Given the description of an element on the screen output the (x, y) to click on. 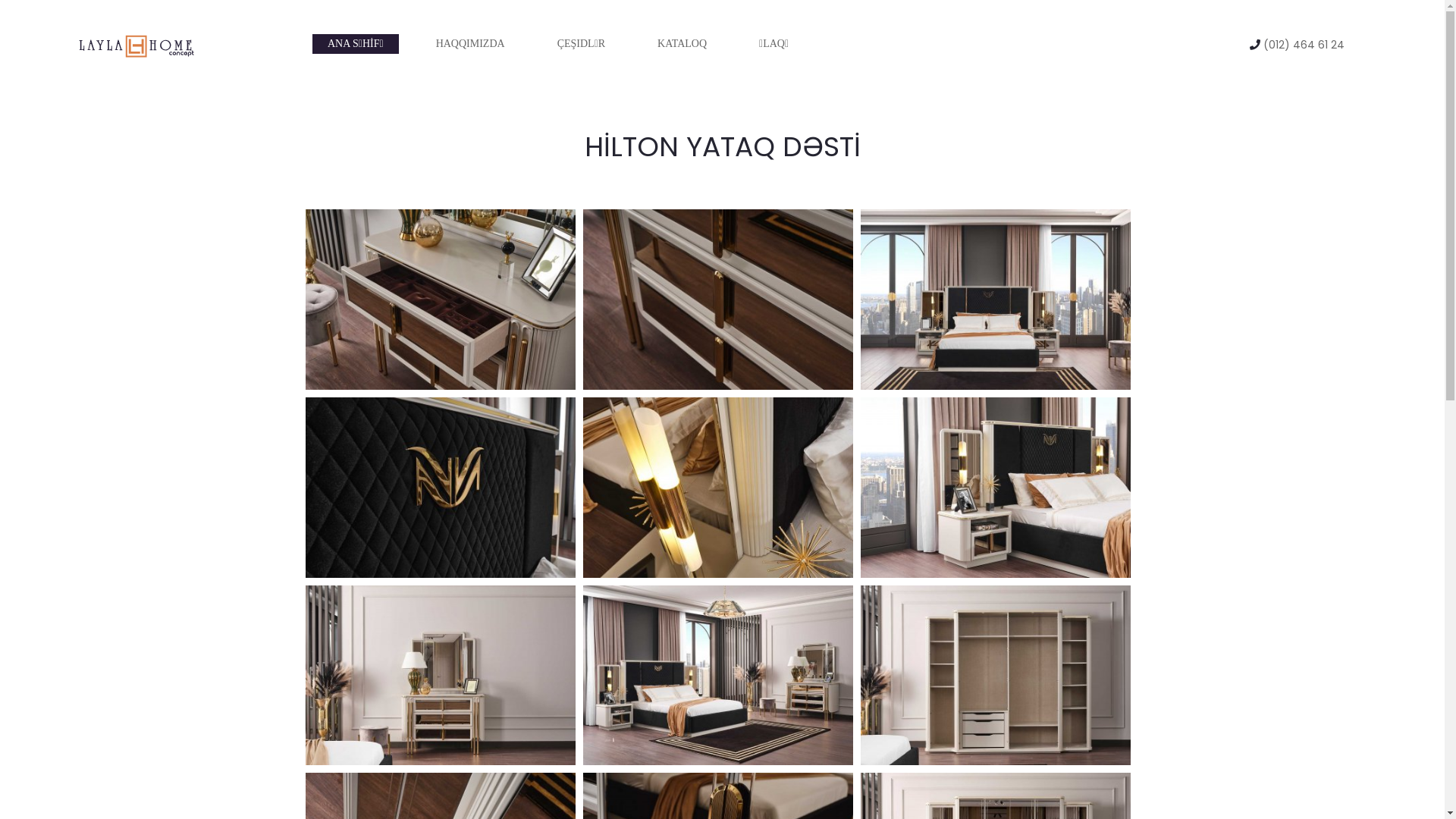
HAQQIMIZDA Element type: text (470, 43)
(012) 464 61 24 Element type: text (1303, 45)
KATALOQ Element type: text (681, 43)
